Given the description of an element on the screen output the (x, y) to click on. 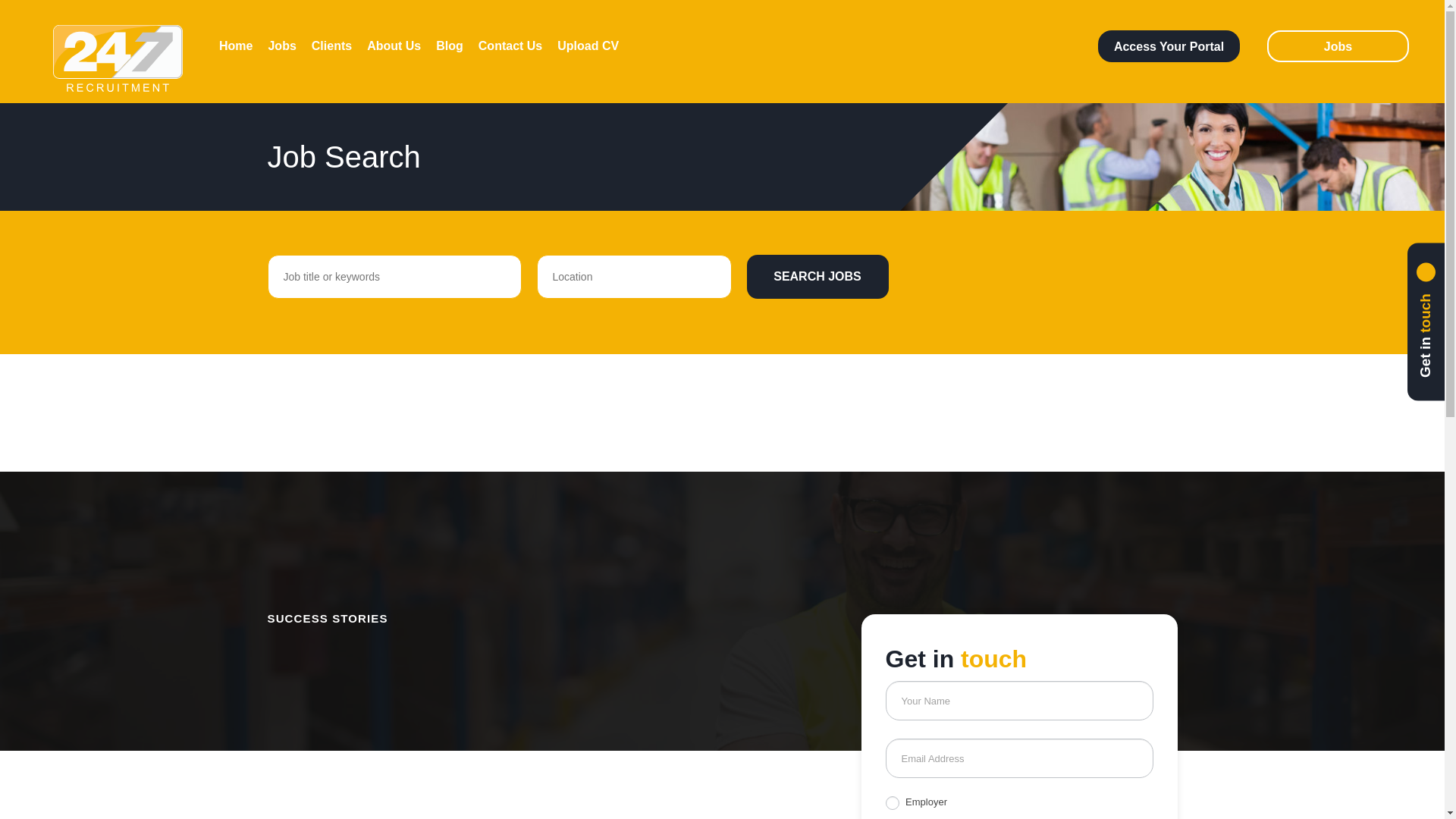
Home (235, 46)
Access Your Portal (1168, 46)
Blog (449, 46)
Search Jobs (816, 276)
Search Jobs (816, 276)
Upload CV (587, 46)
Jobs (281, 46)
Employer (892, 802)
Clients (331, 46)
About Us (393, 46)
Contact Us (510, 46)
Jobs (1337, 46)
